Given the description of an element on the screen output the (x, y) to click on. 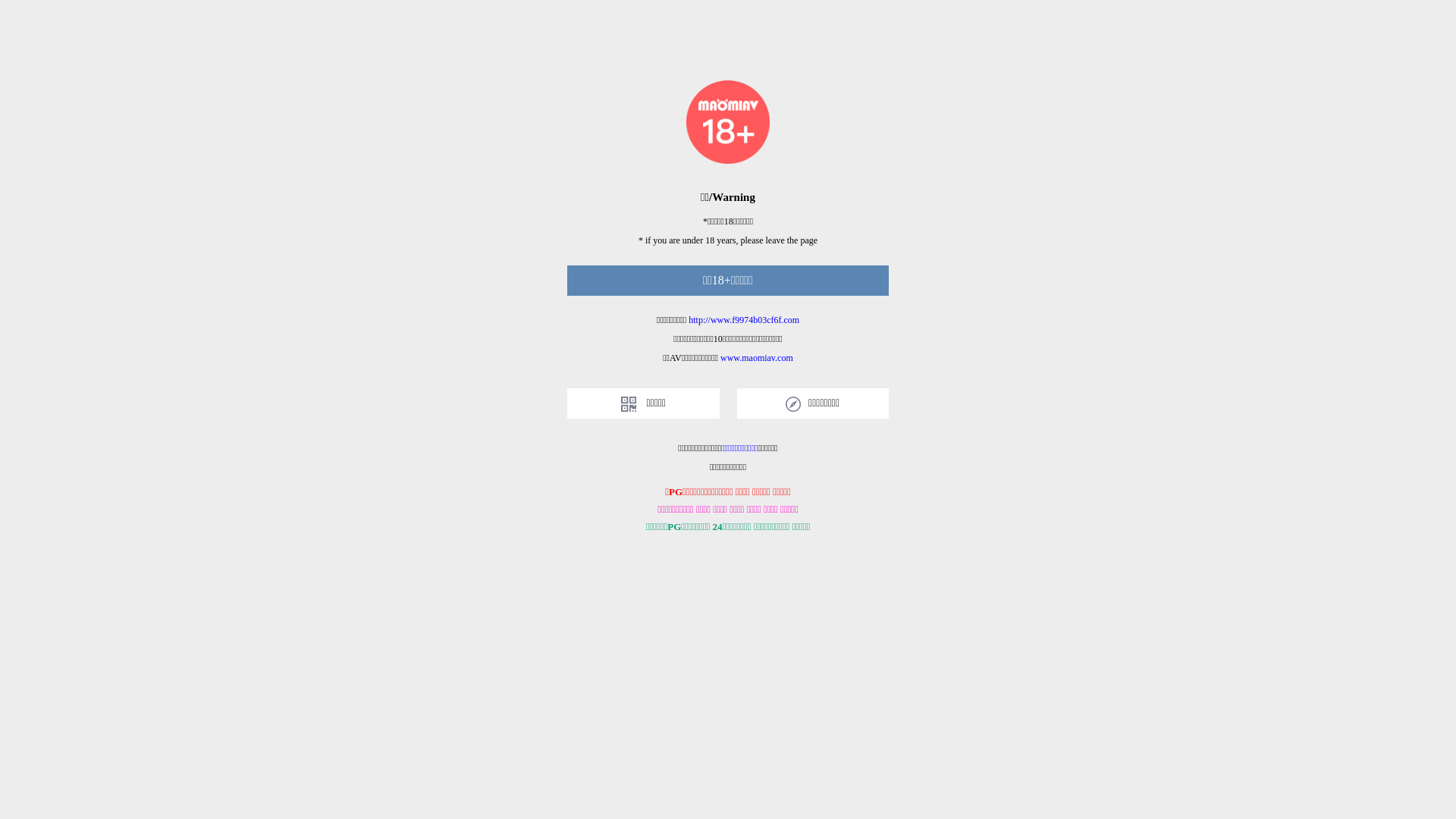
www.maomiav.com Element type: text (756, 357)
http://www.f9974b03cf6f.com Element type: text (743, 319)
